Given the description of an element on the screen output the (x, y) to click on. 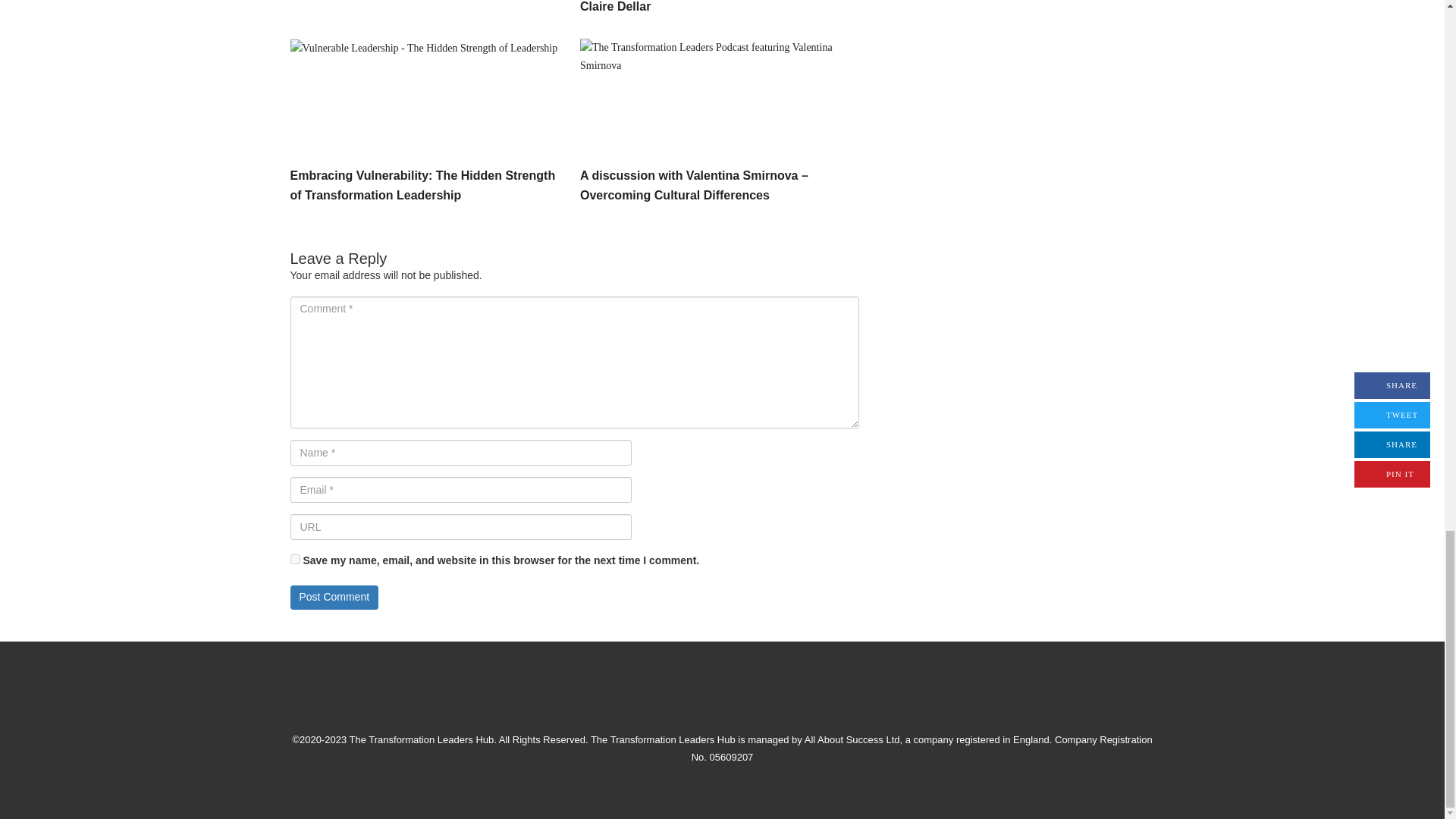
yes (294, 559)
Post Comment (333, 597)
Post Comment (333, 597)
